Given the description of an element on the screen output the (x, y) to click on. 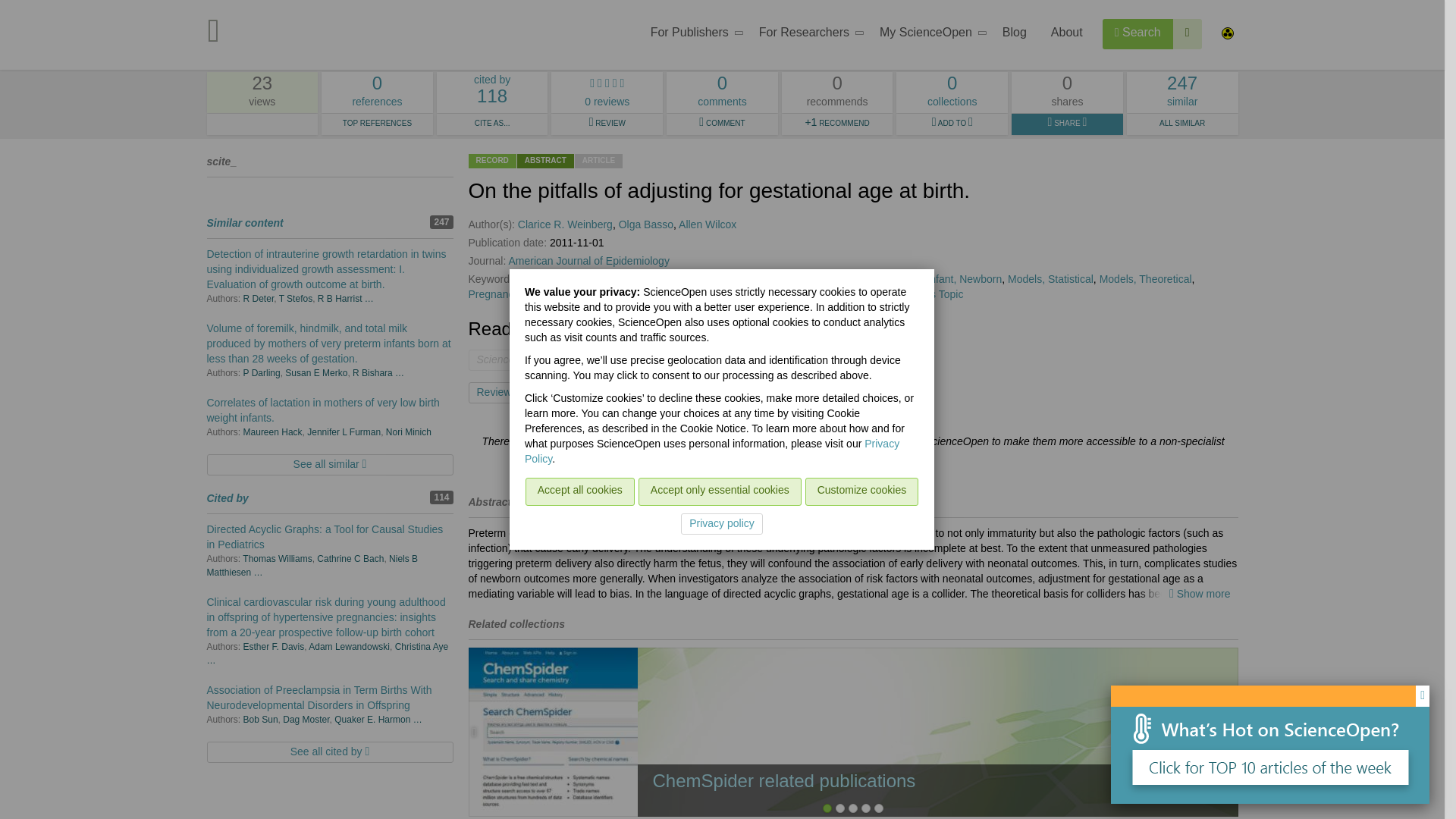
For Researchers (806, 34)
For Publishers (376, 92)
Bookmark (692, 34)
Advanced search (569, 392)
Search (1187, 33)
My ScienceOpen (1137, 33)
